Given the description of an element on the screen output the (x, y) to click on. 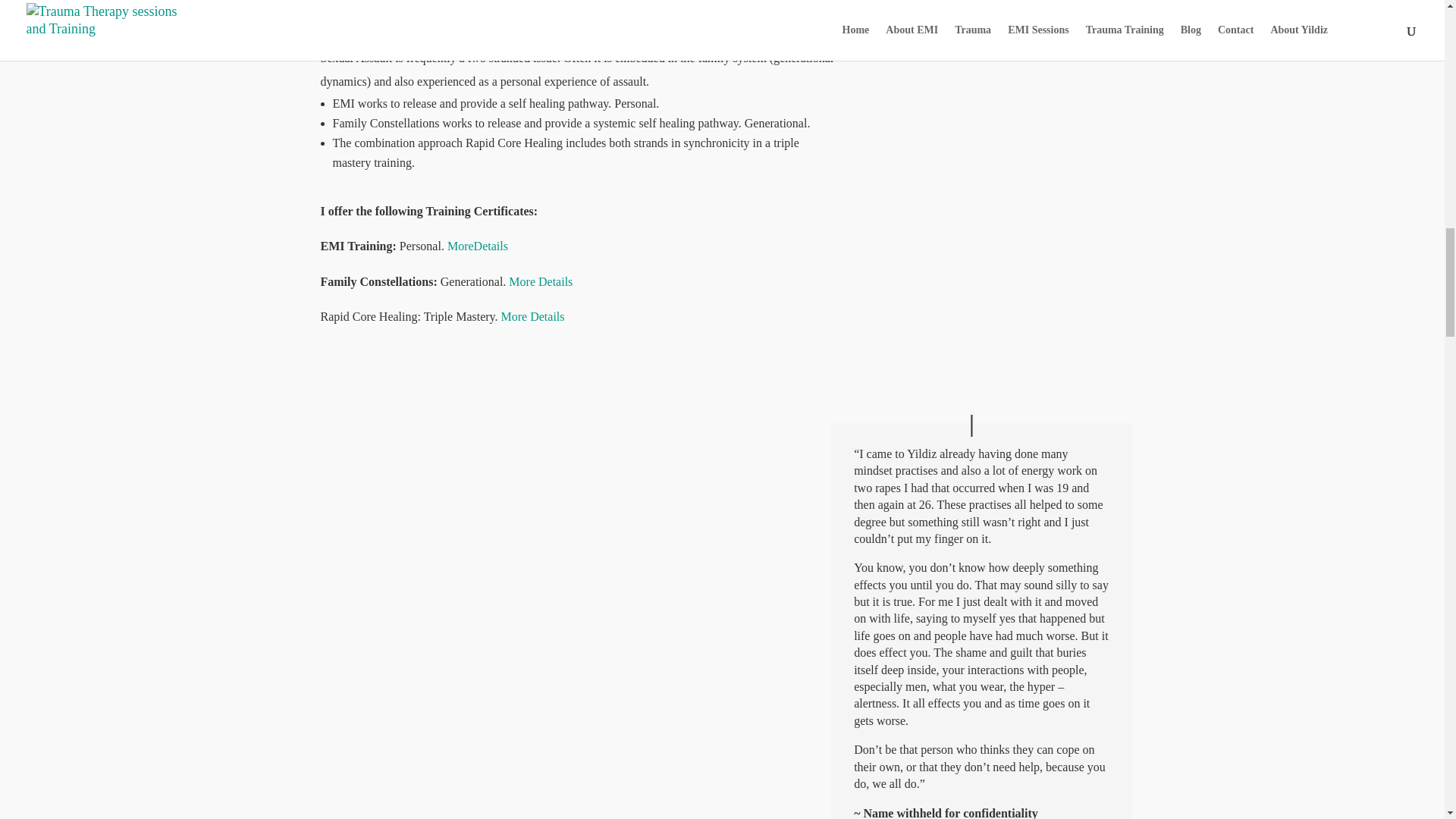
MoreDetails (477, 245)
More Details (540, 281)
More Details (532, 316)
